Given the description of an element on the screen output the (x, y) to click on. 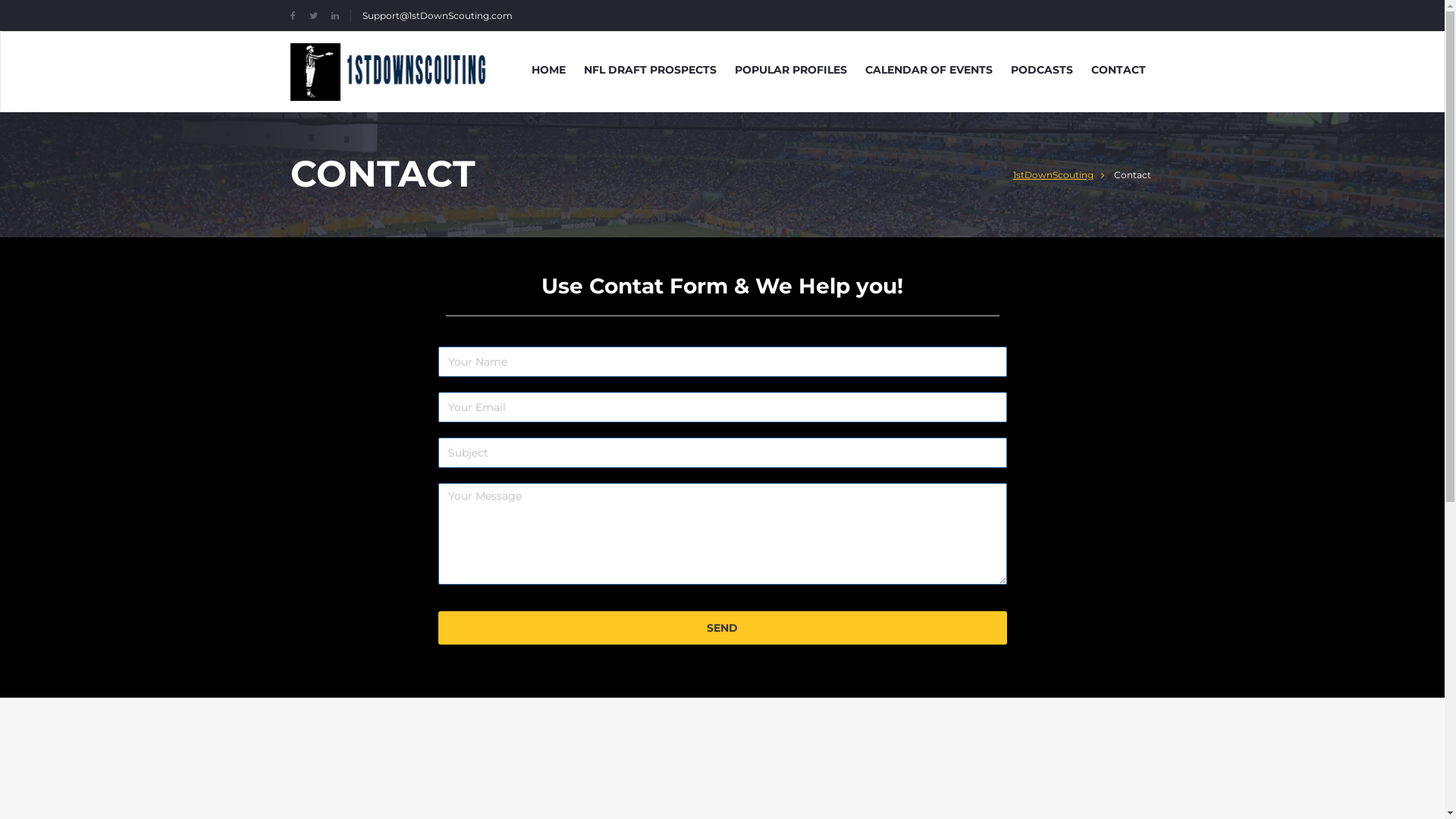
CALENDAR OF EVENTS Element type: text (928, 69)
Contact Element type: text (1132, 174)
Send Element type: text (722, 627)
1stDownScouting Element type: text (1057, 174)
PODCASTS Element type: text (1041, 69)
NFL DRAFT PROSPECTS Element type: text (649, 69)
HOME Element type: text (547, 69)
POPULAR PROFILES Element type: text (789, 69)
CONTACT Element type: text (1117, 69)
Support@1stDownScouting.com Element type: text (437, 15)
